Given the description of an element on the screen output the (x, y) to click on. 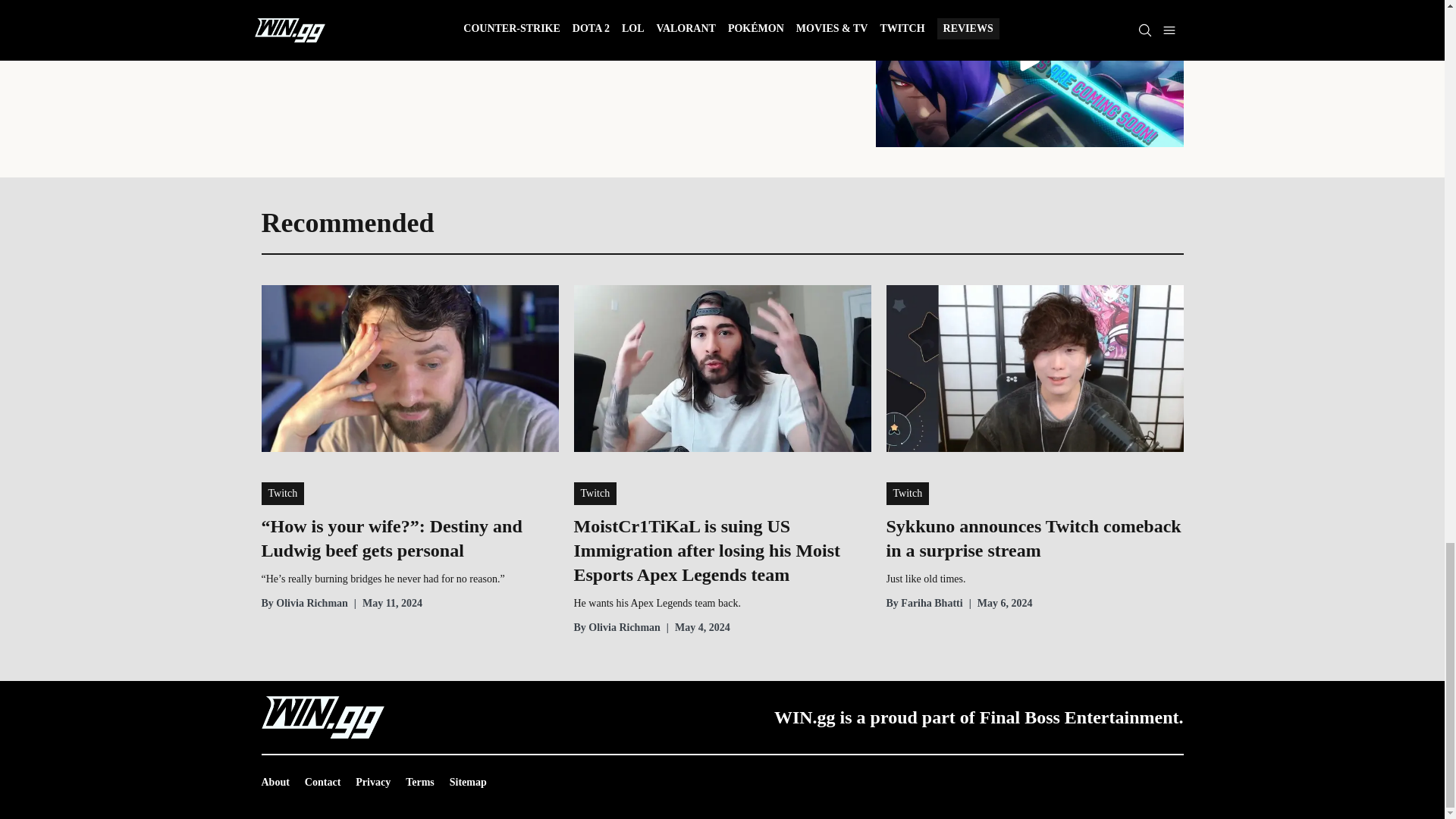
By Olivia Richman (303, 603)
Twitch (282, 493)
